Given the description of an element on the screen output the (x, y) to click on. 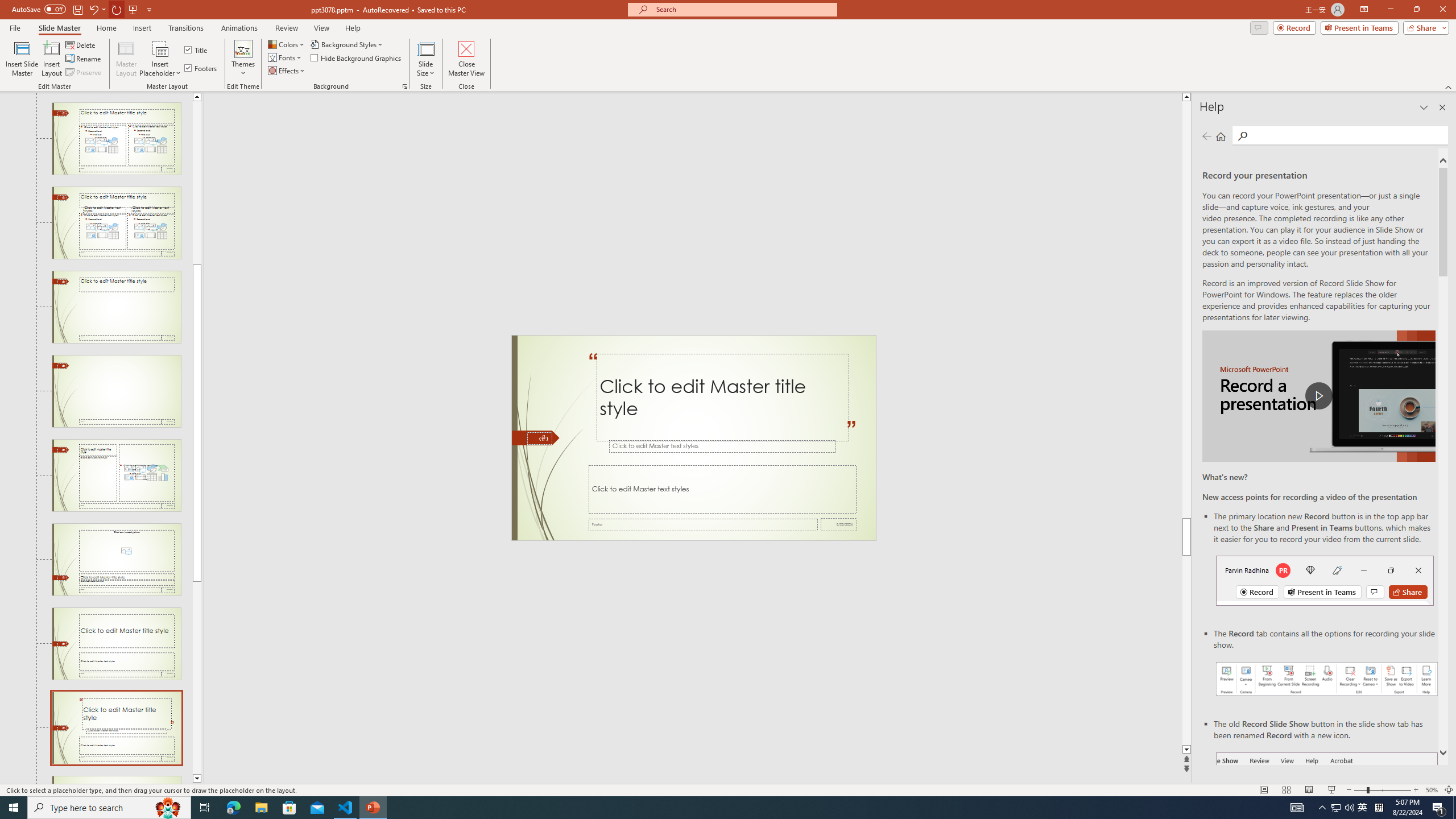
Slide Number (539, 438)
Slide Comparison Layout: used by no slides (116, 222)
Footer (703, 524)
